Given the description of an element on the screen output the (x, y) to click on. 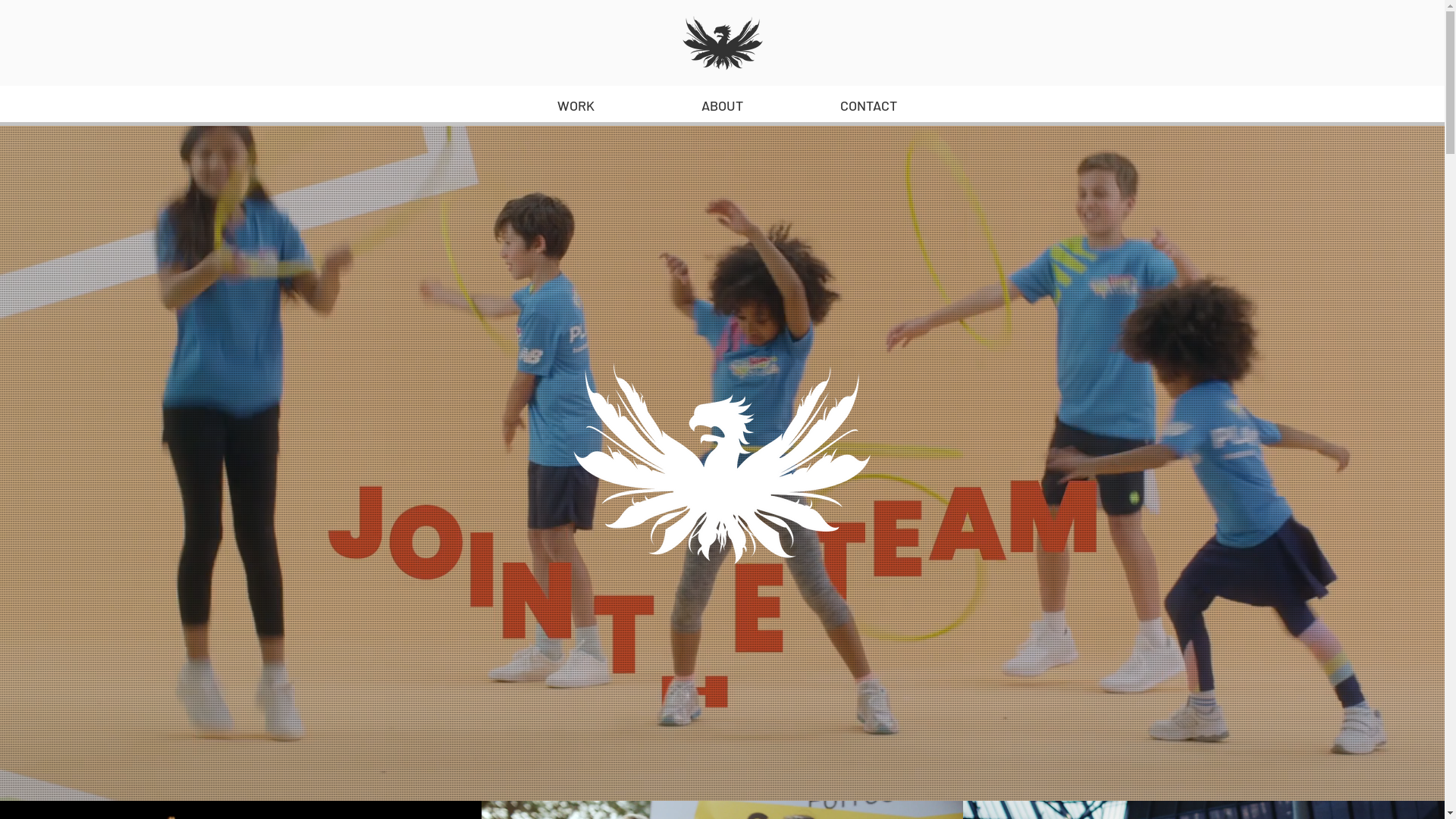
ABOUT Element type: text (722, 105)
CONTACT Element type: text (867, 105)
WORK Element type: text (575, 105)
